Given the description of an element on the screen output the (x, y) to click on. 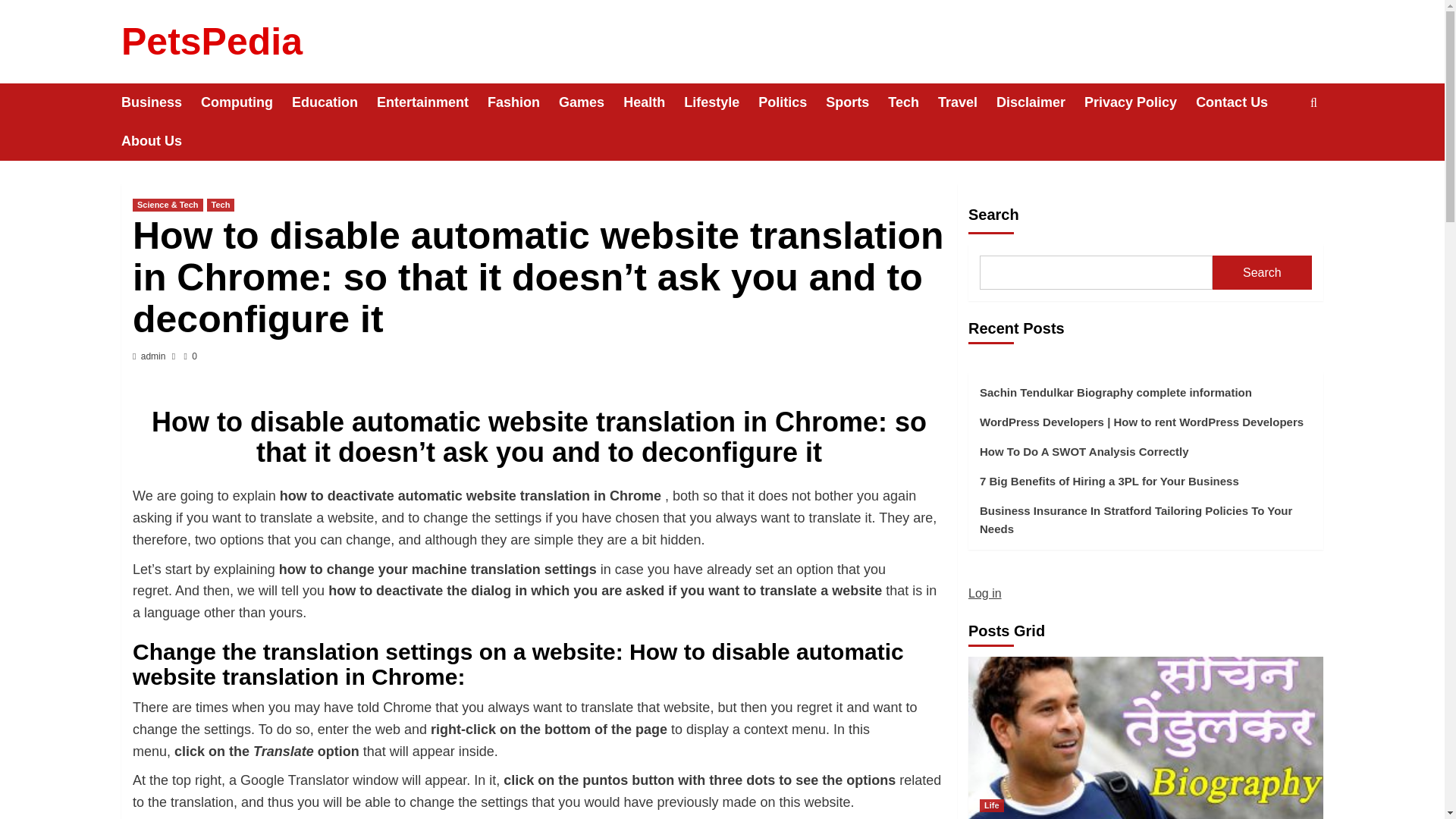
Privacy Policy (1139, 102)
Tech (912, 102)
Disclaimer (1039, 102)
Computing (246, 102)
Entertainment (432, 102)
Sports (856, 102)
Search (1278, 148)
Travel (966, 102)
Business (160, 102)
Health (653, 102)
PetsPedia (211, 41)
0 (189, 356)
About Us (160, 141)
Education (334, 102)
Politics (791, 102)
